Given the description of an element on the screen output the (x, y) to click on. 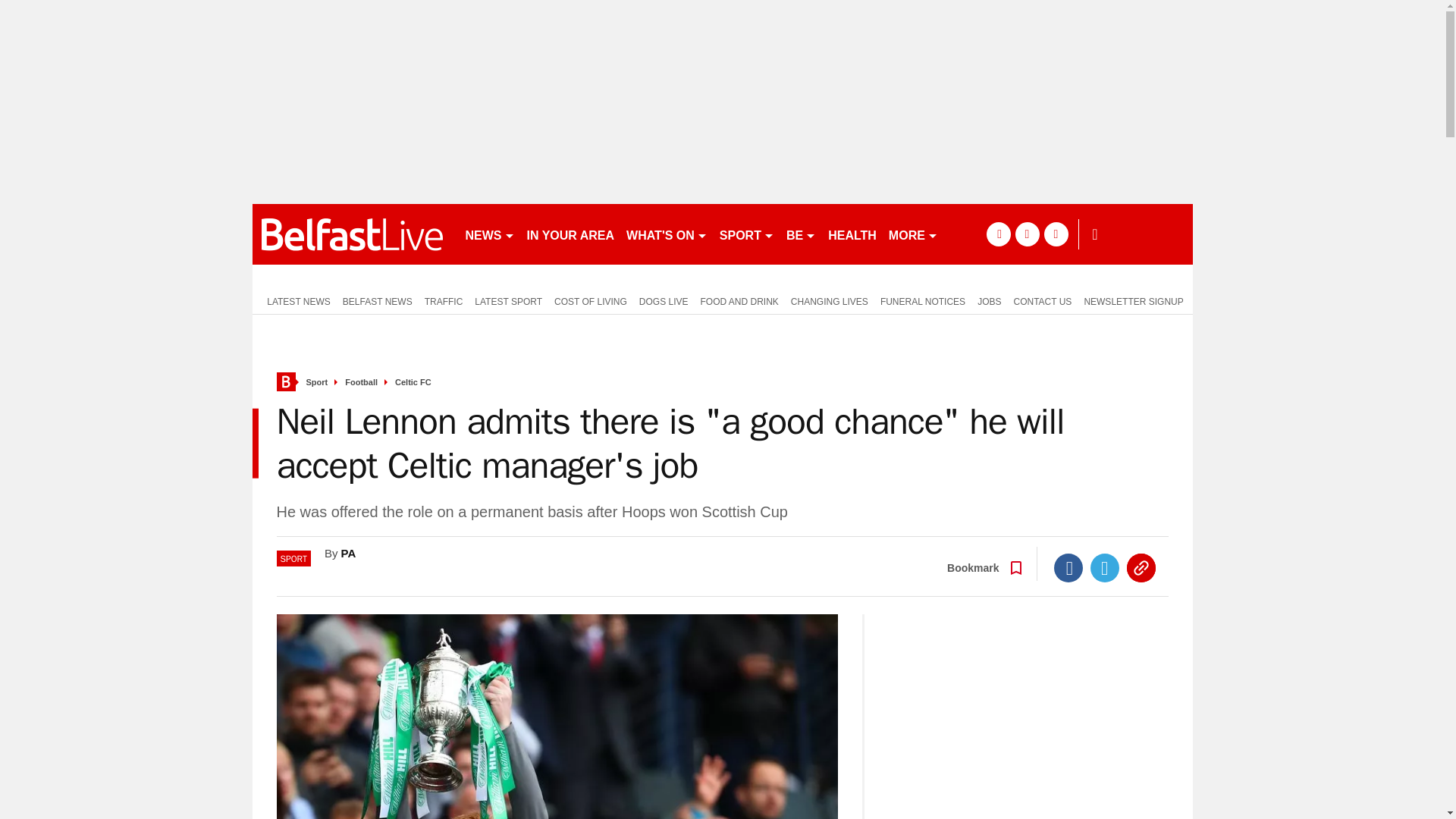
Facebook (1068, 567)
belfastlive (351, 233)
facebook (997, 233)
instagram (1055, 233)
WHAT'S ON (666, 233)
IN YOUR AREA (569, 233)
SPORT (746, 233)
NEWS (490, 233)
twitter (1026, 233)
Twitter (1104, 567)
